Given the description of an element on the screen output the (x, y) to click on. 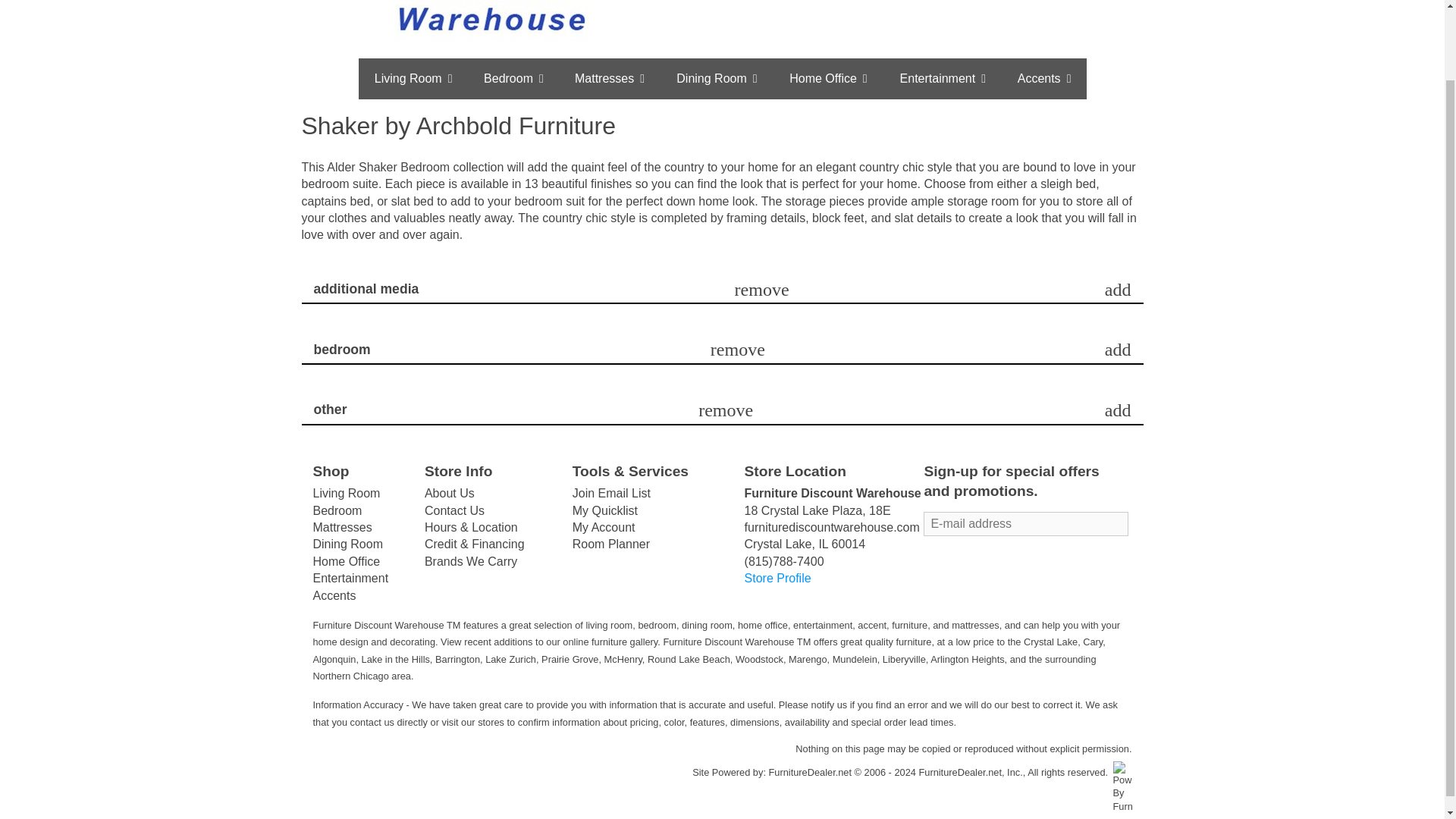
Bedroom (513, 78)
Living Room (412, 78)
